Given the description of an element on the screen output the (x, y) to click on. 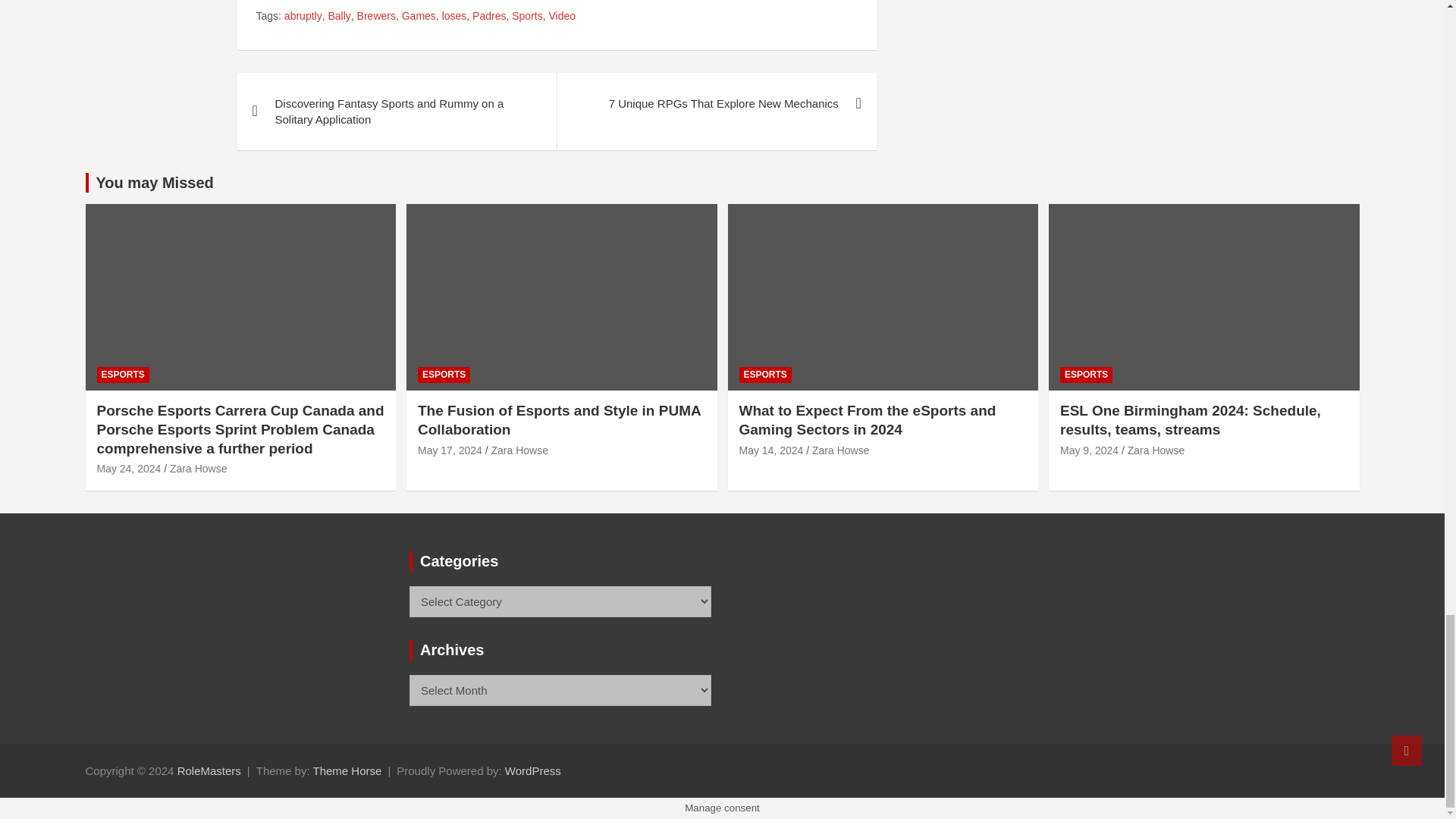
Sports (526, 16)
What to Expect From the eSports and Gaming Sectors in 2024 (770, 449)
Brewers (376, 16)
7 Unique RPGs That Explore New Mechanics (716, 103)
You may Missed (154, 182)
Video (562, 16)
WordPress (532, 770)
Theme Horse (347, 770)
abruptly (302, 16)
ESL One Birmingham 2024: Schedule, results, teams, streams (1088, 449)
loses (454, 16)
Games (418, 16)
RoleMasters (209, 770)
